Given the description of an element on the screen output the (x, y) to click on. 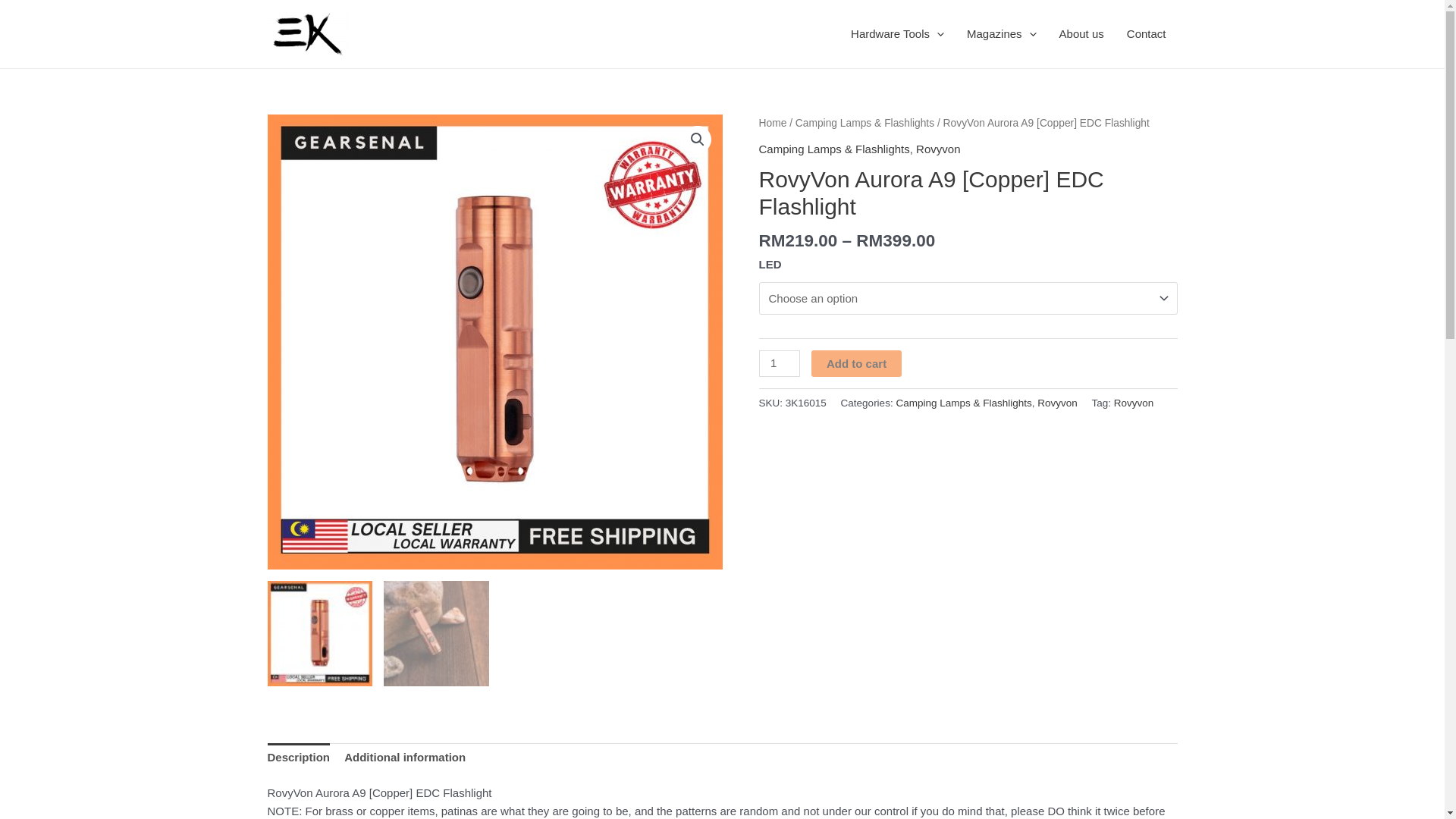
Hardware Tools Element type: text (897, 33)
Camping Lamps & Flashlights Element type: text (963, 402)
Rovyvon Element type: text (938, 148)
Add to cart Element type: text (856, 363)
Rovyvon Element type: text (1133, 402)
About us Element type: text (1081, 33)
Home Element type: text (772, 122)
Additional information Element type: text (404, 757)
Camping Lamps & Flashlights Element type: text (833, 148)
Contact Element type: text (1146, 33)
74eca6a181ce12f144601163b7801e3d.jpeg Element type: hover (493, 341)
Description Element type: text (297, 757)
Camping Lamps & Flashlights Element type: text (864, 122)
Magazines Element type: text (1001, 33)
Rovyvon Element type: text (1057, 402)
